Given the description of an element on the screen output the (x, y) to click on. 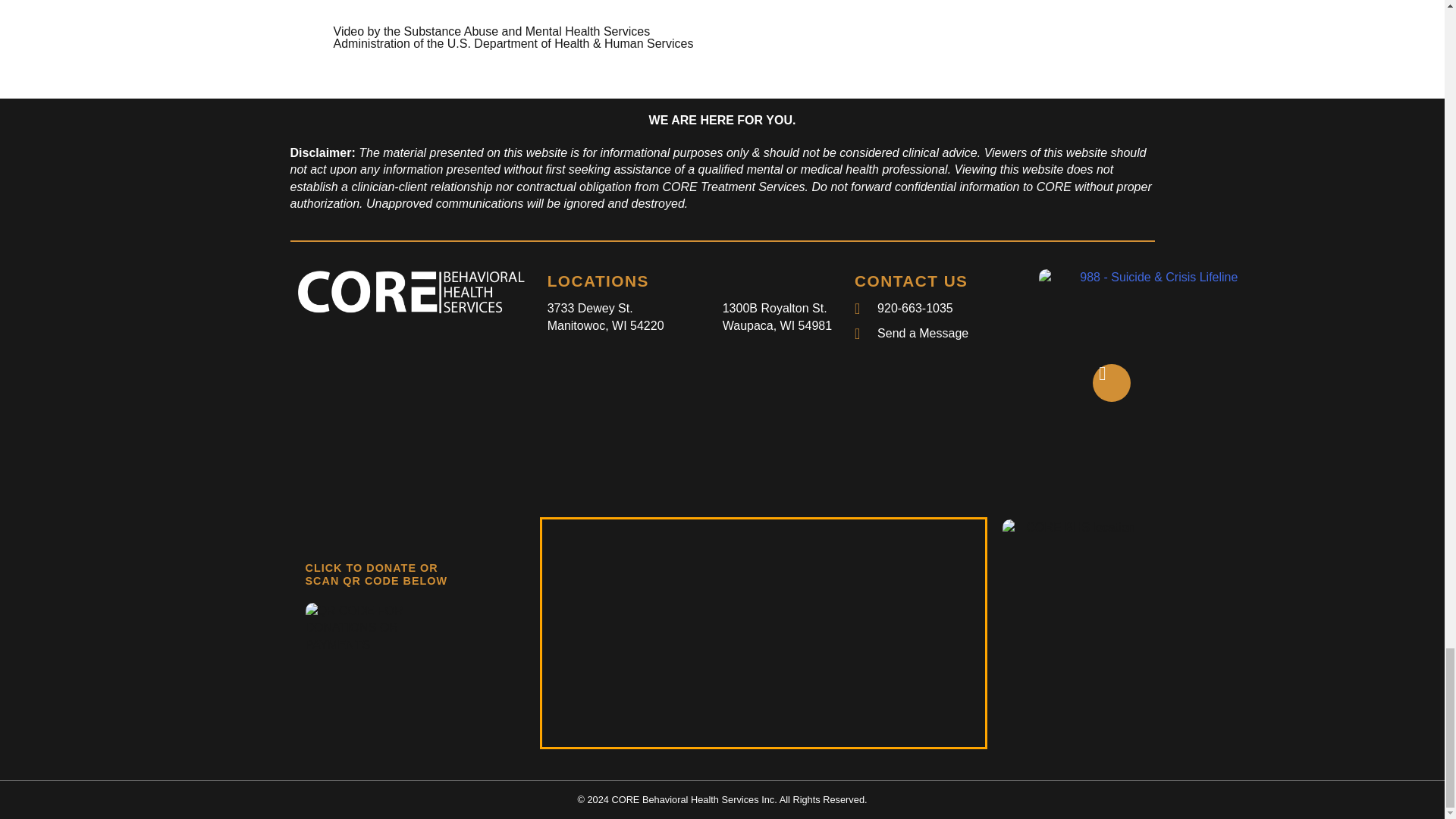
3733 Dewey Street, Manitowoc, WI 54220 (763, 632)
